Given the description of an element on the screen output the (x, y) to click on. 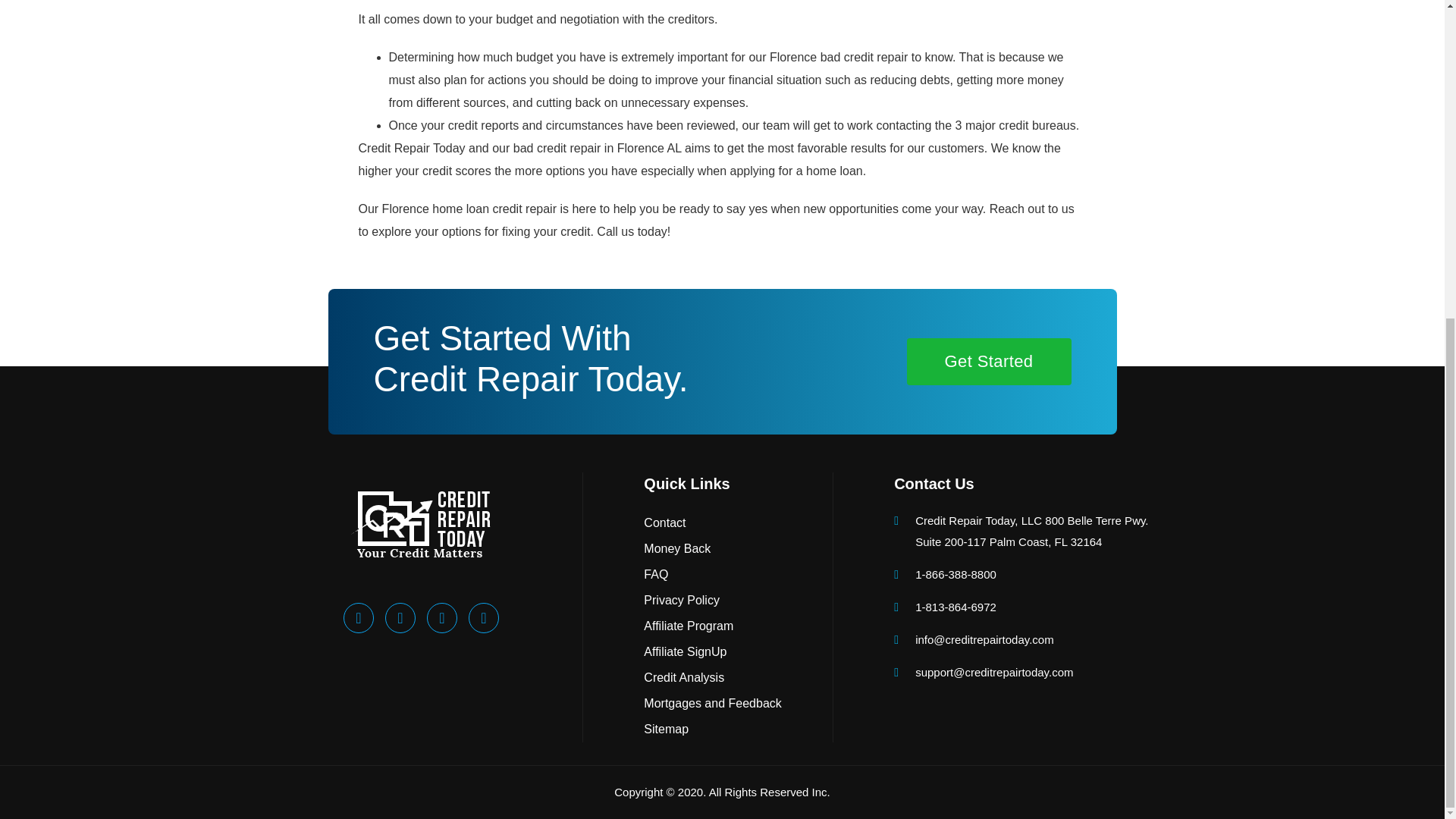
Privacy Policy (715, 600)
Affiliate SignUp (715, 652)
Mortgages and Feedback (715, 703)
Credit Analysis (715, 678)
Get Started (989, 361)
Sitemap (715, 729)
Contact (715, 523)
Money Back (715, 548)
FAQ (715, 574)
Affiliate Program (715, 626)
